Given the description of an element on the screen output the (x, y) to click on. 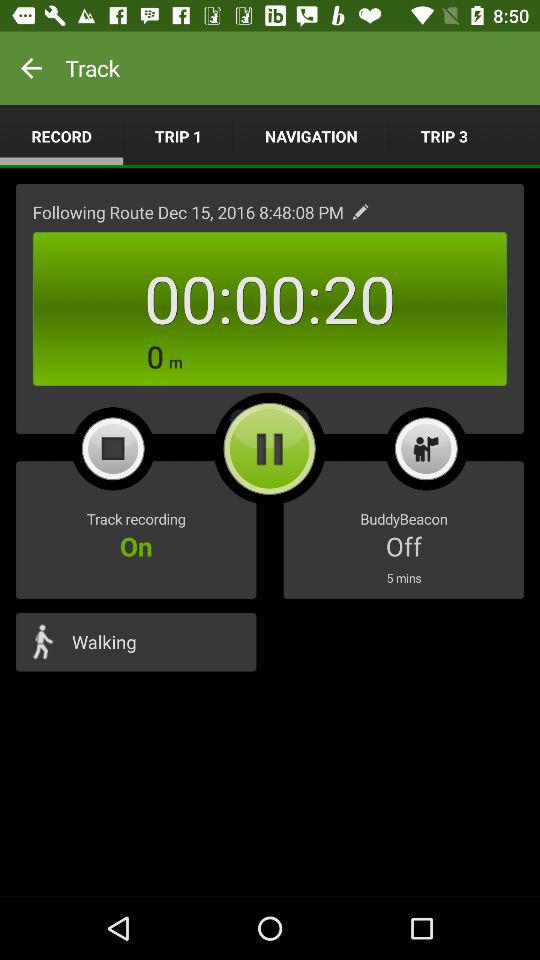
swipe until navigation app (311, 136)
